Given the description of an element on the screen output the (x, y) to click on. 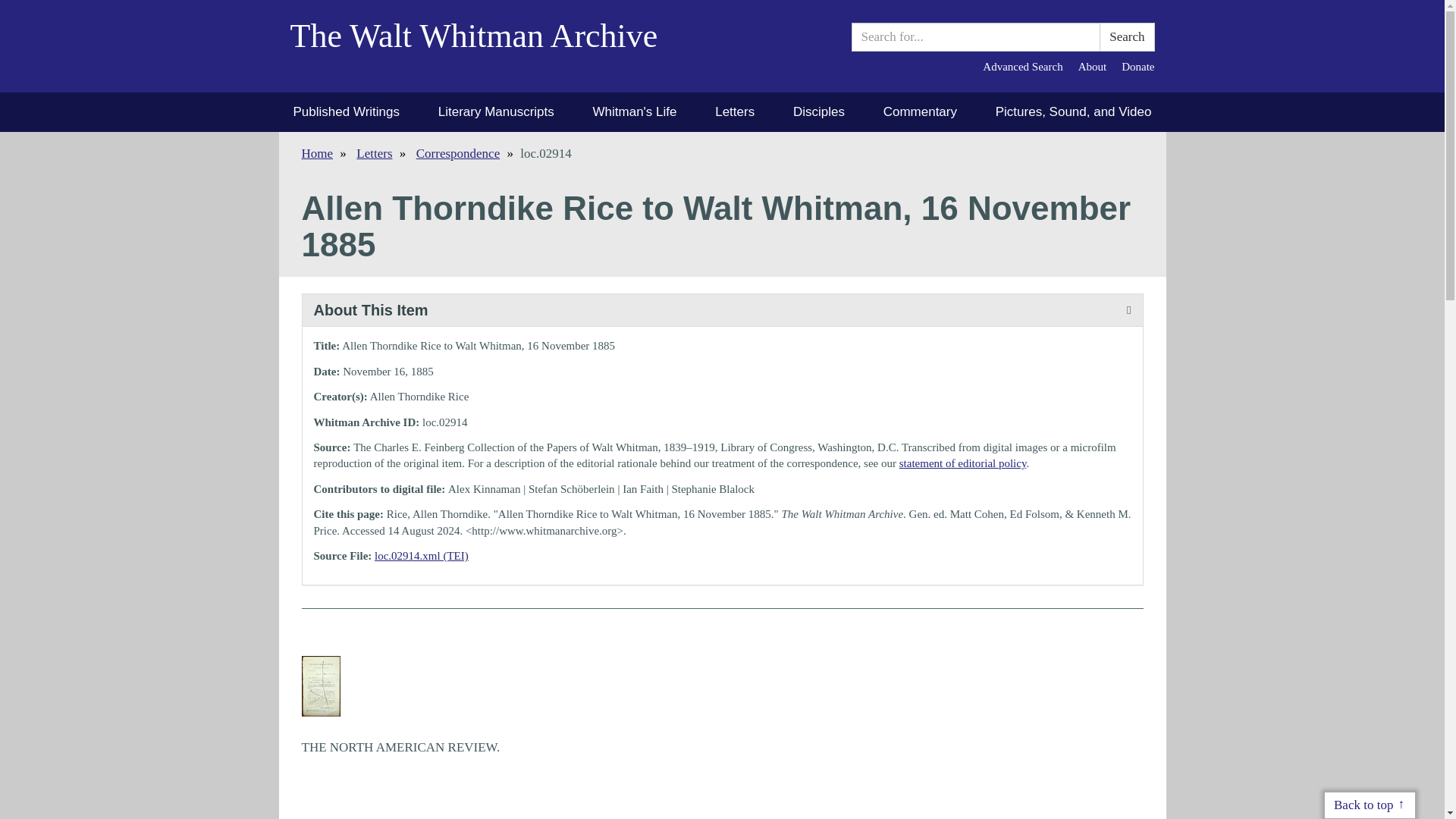
The Walt Whitman Archive (484, 46)
Letters (373, 153)
Pictures, Sound, and Video (1073, 112)
About (1092, 66)
Commentary (919, 112)
Donate (1137, 66)
Home (317, 153)
Search (1126, 36)
Search (1126, 36)
Literary Manuscripts (496, 112)
